Given the description of an element on the screen output the (x, y) to click on. 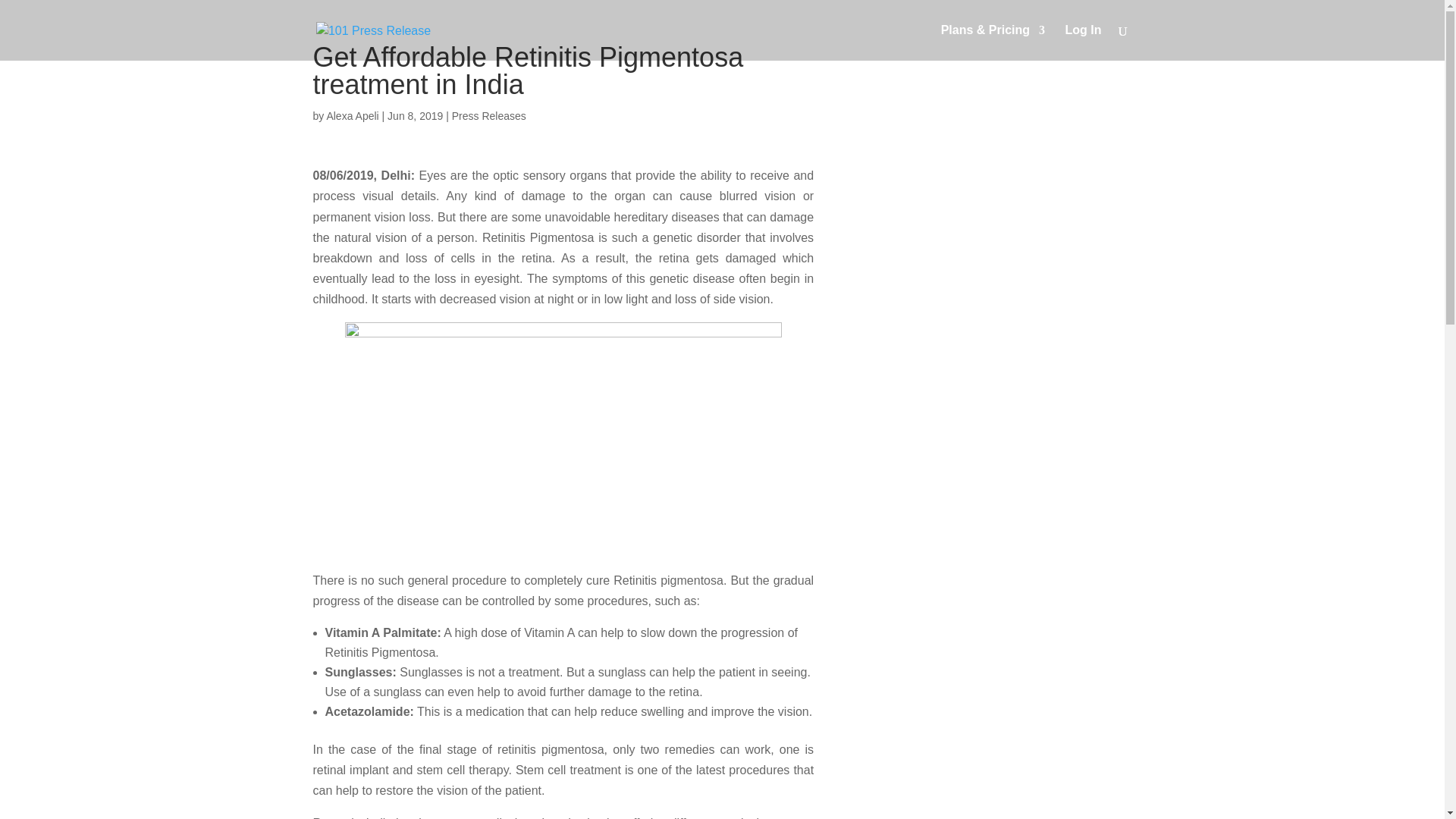
Log In (1083, 42)
Press Releases (488, 115)
Alexa Apeli (352, 115)
Posts by Alexa Apeli (352, 115)
